Given the description of an element on the screen output the (x, y) to click on. 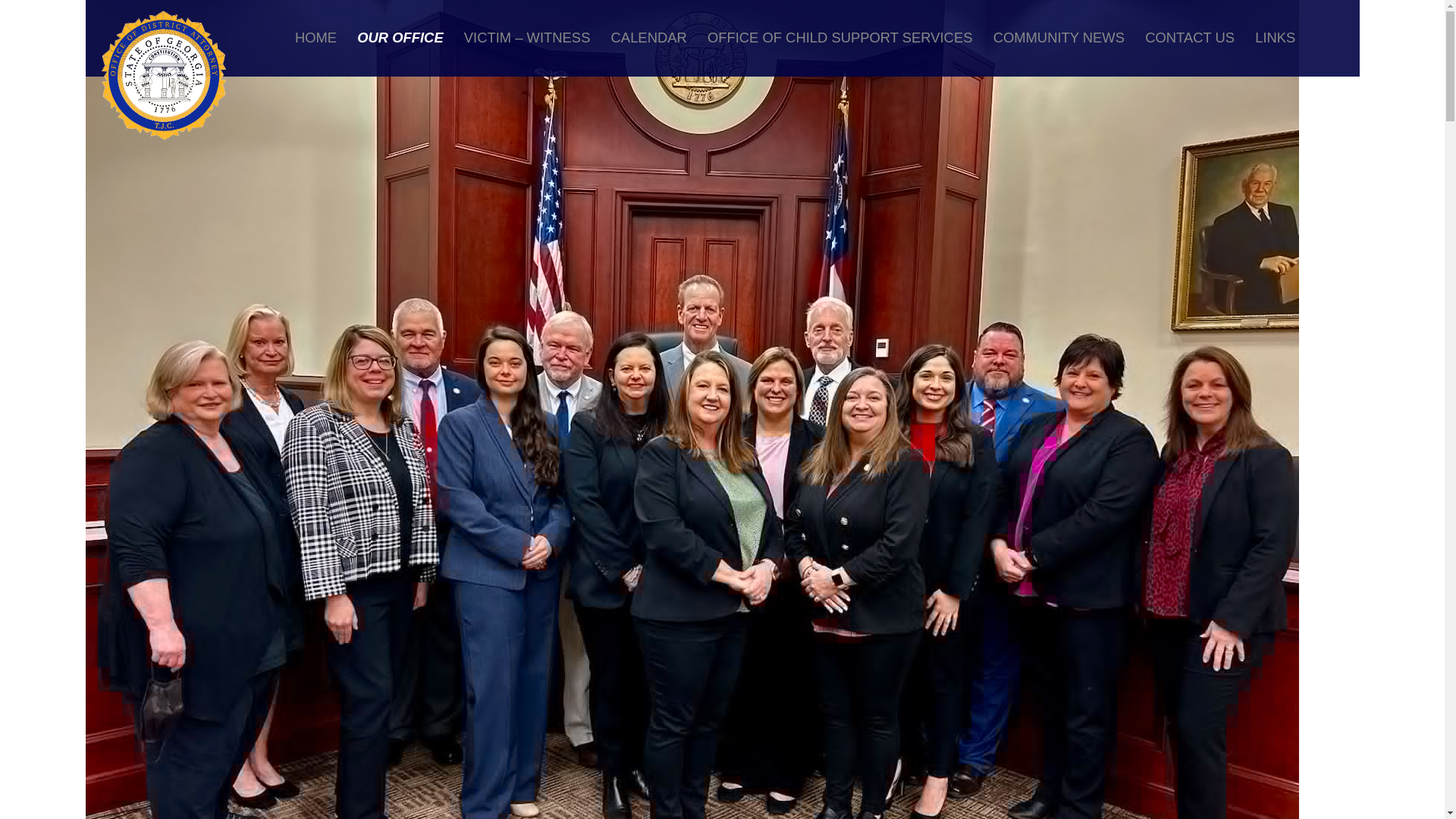
CONTACT US (1189, 38)
OFFICE OF CHILD SUPPORT SERVICES (839, 38)
Toombs Judicial Court (163, 37)
Home (314, 38)
CALENDAR (648, 38)
OUR OFFICE (400, 38)
Contact Us (1189, 38)
Community News (1058, 38)
Our Office (400, 38)
COMMUNITY NEWS (1058, 38)
